Given the description of an element on the screen output the (x, y) to click on. 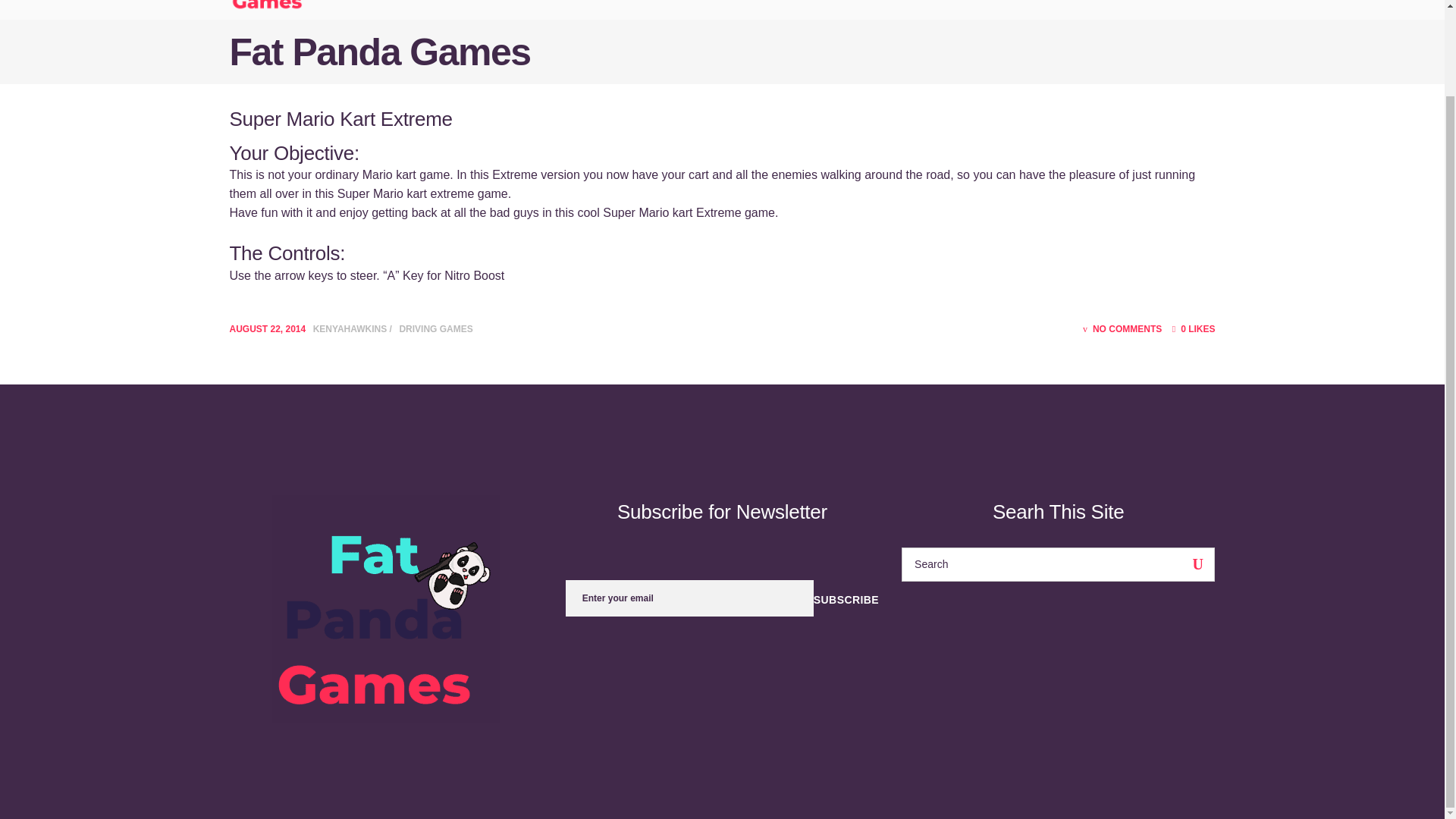
HOME (363, 9)
CONTACT US (1061, 9)
DRIVING GAMES (434, 328)
U (1197, 564)
THE MOST ANTICIPATED VIDEO GAMES RELEASES (612, 9)
BLOG (427, 9)
ALL GAMES (962, 9)
0 LIKES (1193, 328)
SAFE ONLINE GAMES (841, 9)
U (1197, 564)
SUBSCRIBE (846, 599)
SUBSCRIBE (846, 599)
KENYAHAWKINS (351, 328)
Like this (1193, 328)
NO COMMENTS (1122, 328)
